Given the description of an element on the screen output the (x, y) to click on. 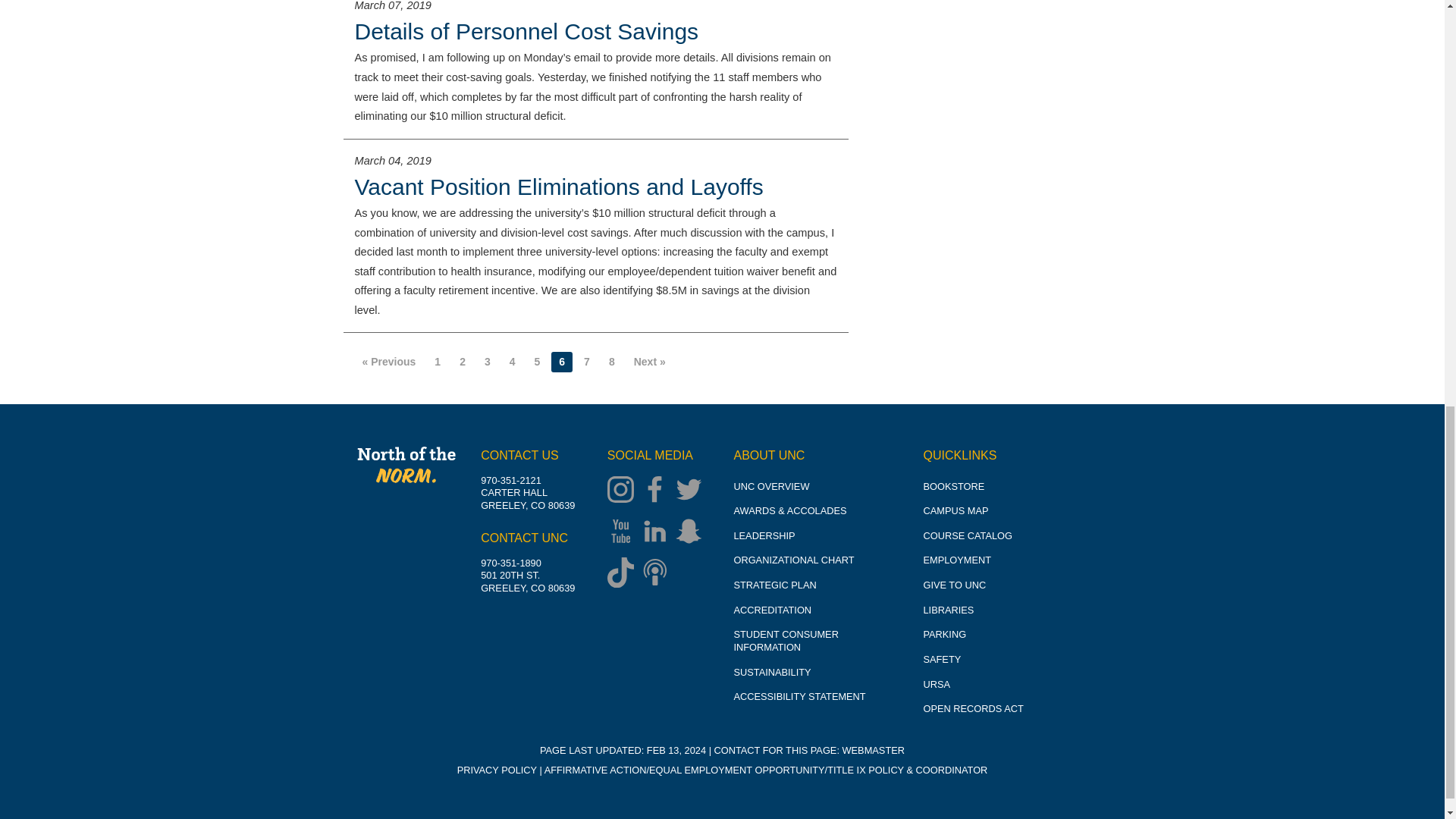
Facebook (658, 490)
TikTok (624, 574)
Twitter (692, 490)
Instagram (624, 490)
Snapchat (692, 532)
YouTube (624, 532)
LinkedIn (658, 532)
Bear in Mind Podcast (658, 574)
